Given the description of an element on the screen output the (x, y) to click on. 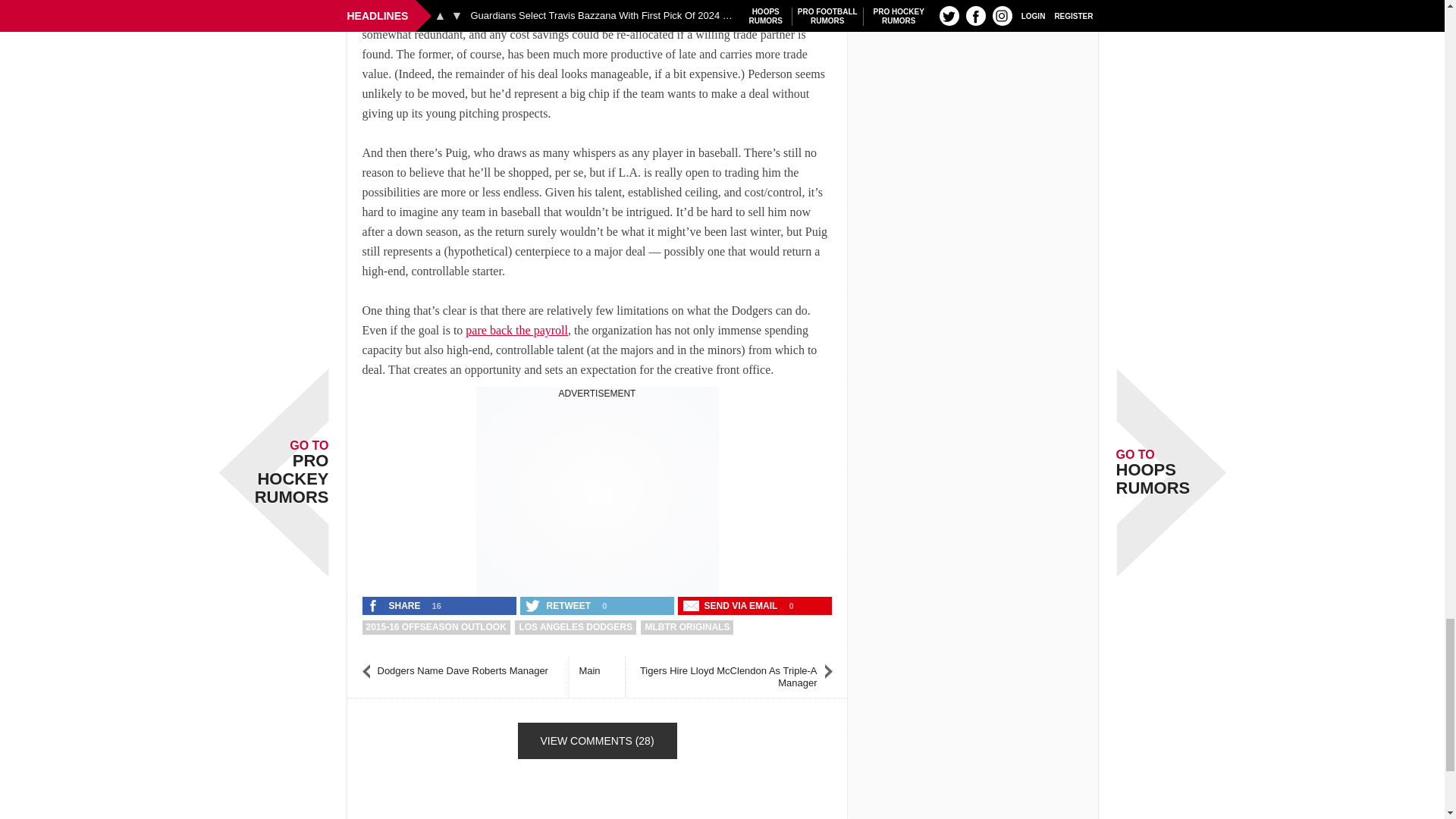
3rd party ad content (597, 493)
Share 'Offseason Outlook: Los Angeles Dodgers' on Facebook (395, 606)
Send Offseason Outlook: Los Angeles Dodgers with an email (732, 606)
Retweet 'Offseason Outlook: Los Angeles Dodgers' on Twitter (558, 606)
